Given the description of an element on the screen output the (x, y) to click on. 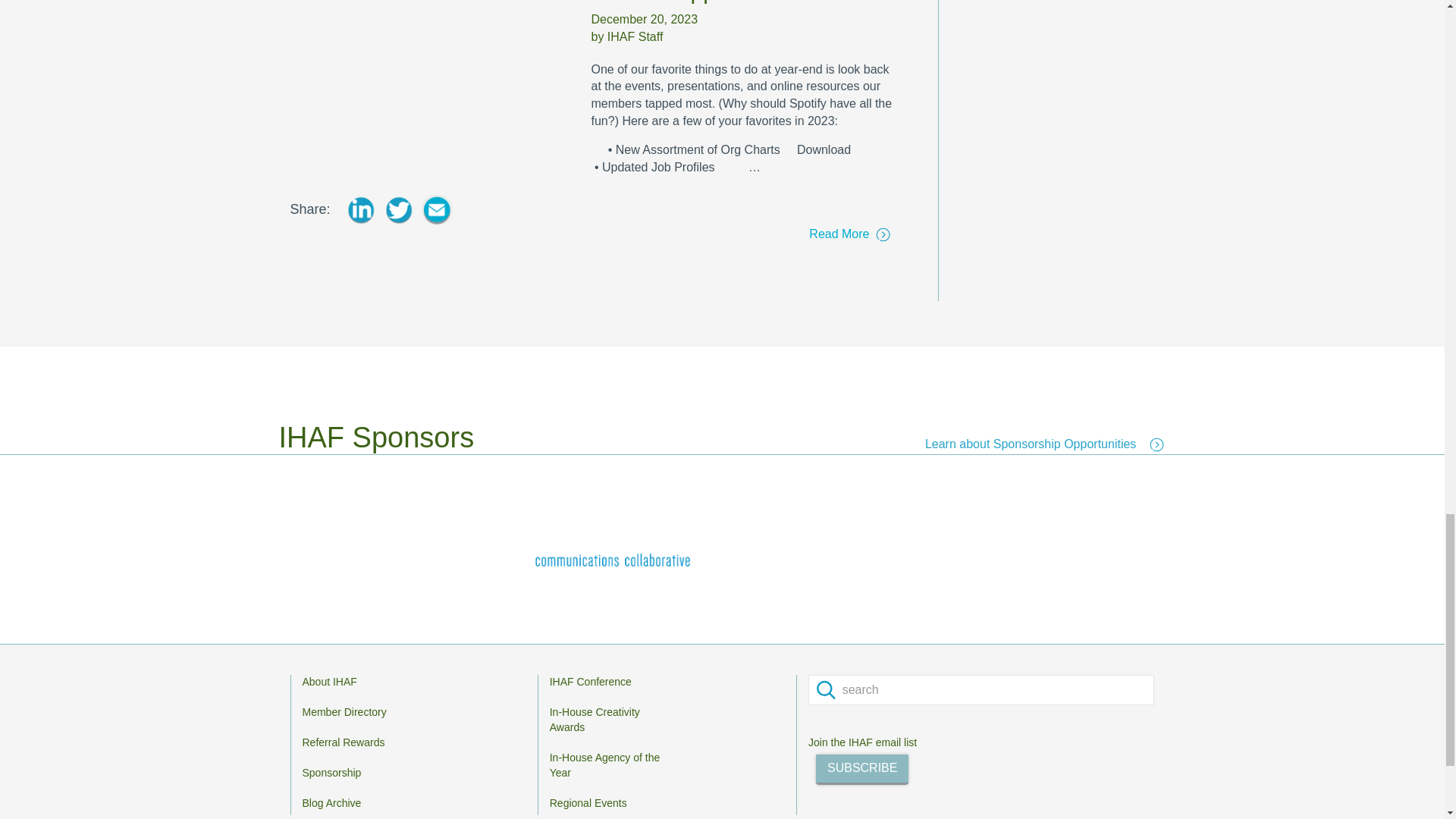
pexels-max-fischer-5872188 (428, 82)
